Given the description of an element on the screen output the (x, y) to click on. 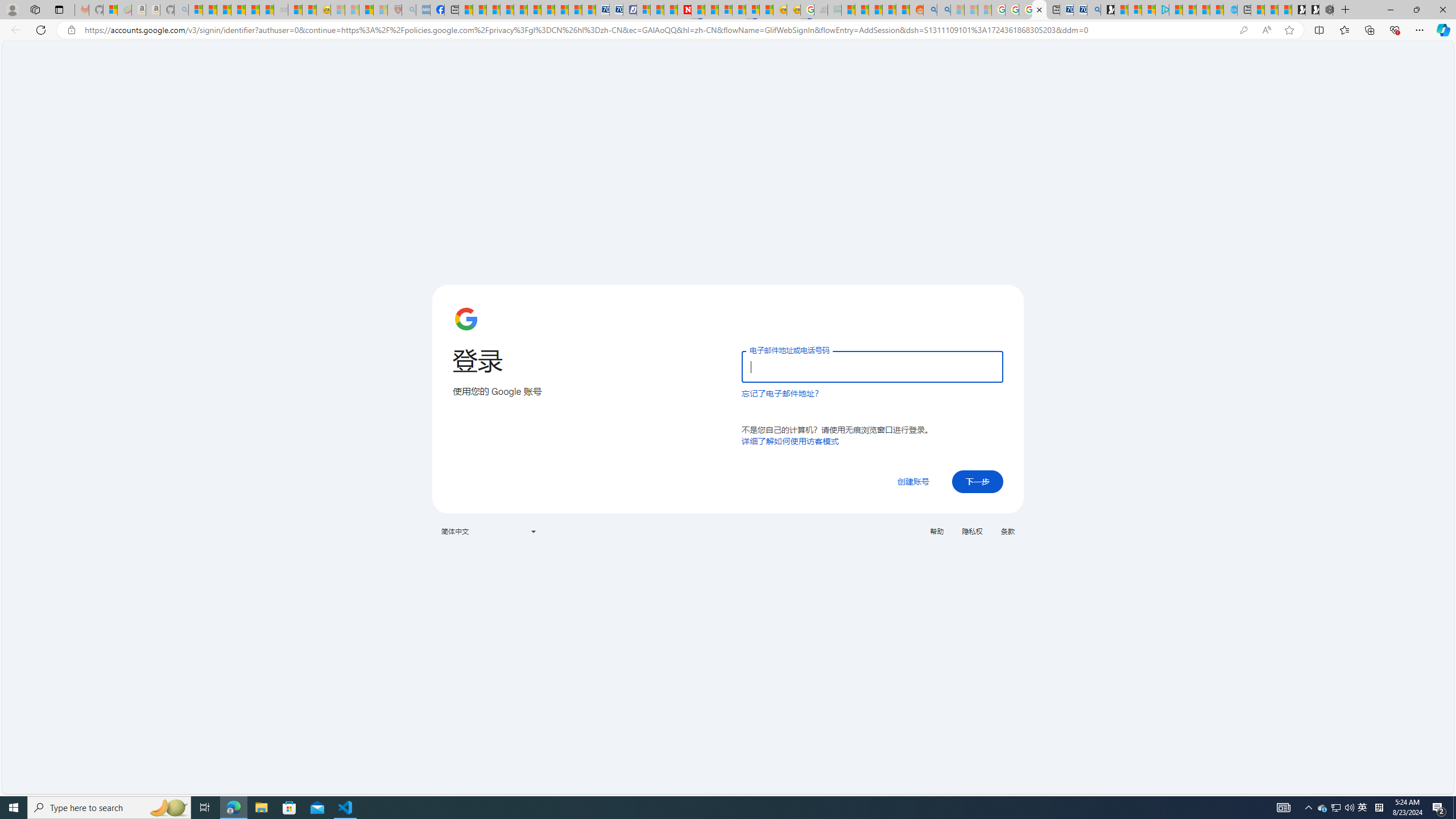
Combat Siege - Sleeping (280, 9)
